Given the description of an element on the screen output the (x, y) to click on. 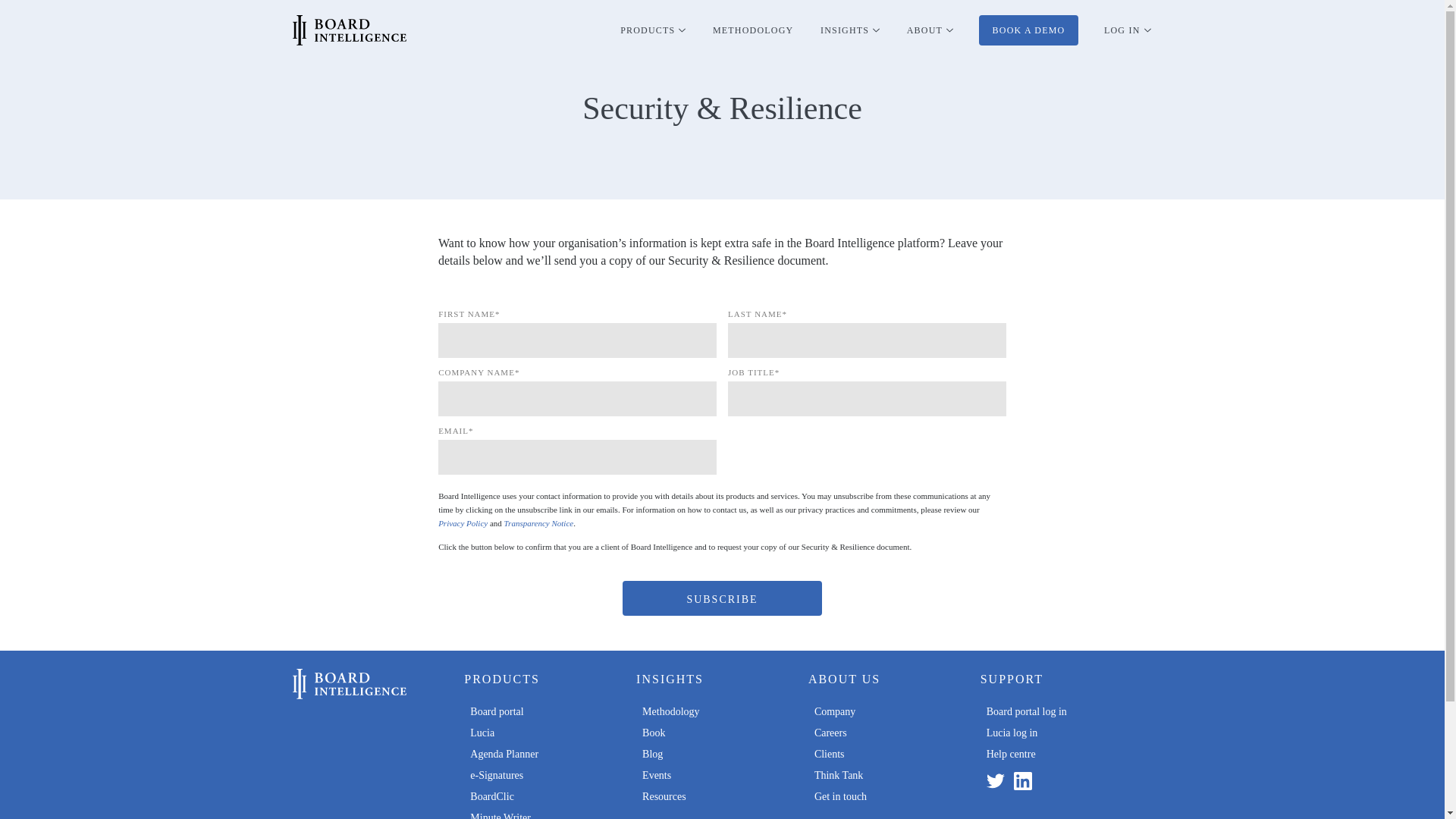
METHODOLOGY (752, 30)
Privacy Policy (463, 522)
Transparency Notice (538, 522)
BOOK A DEMO (1028, 30)
Subscribe (722, 597)
